Given the description of an element on the screen output the (x, y) to click on. 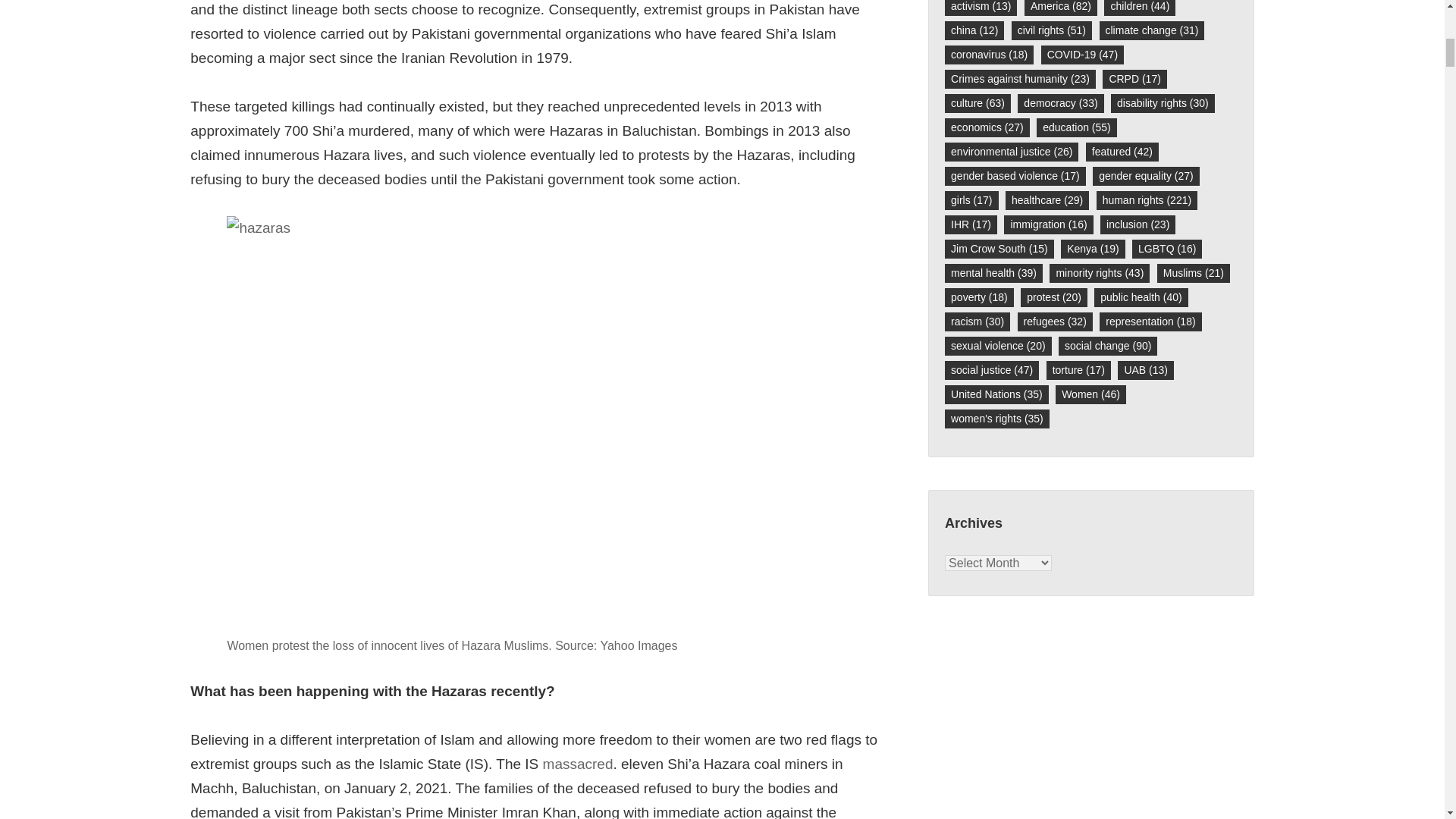
massacred (577, 764)
